Given the description of an element on the screen output the (x, y) to click on. 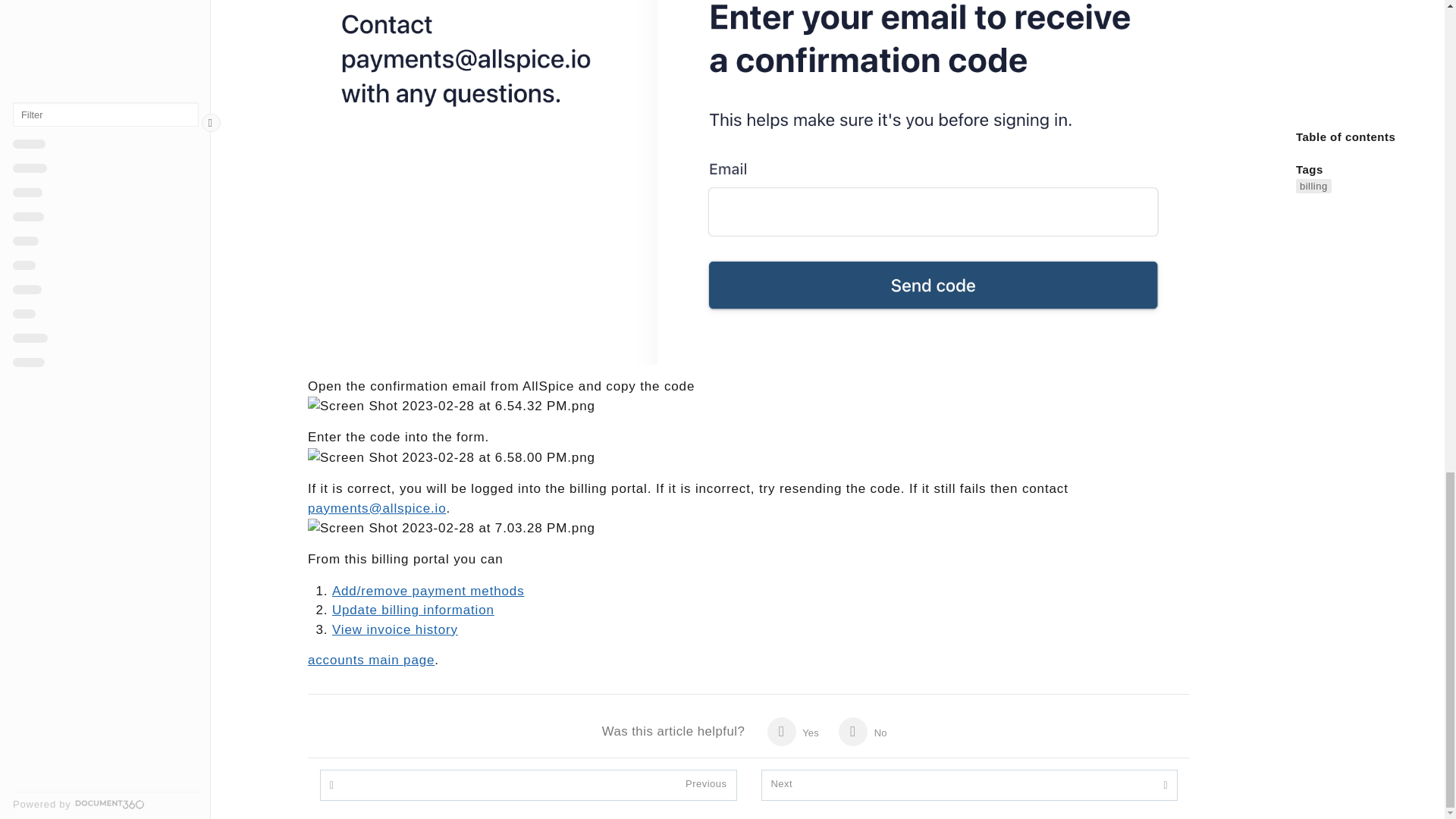
Previous (705, 785)
accounts main page (370, 659)
No (862, 731)
Next (781, 785)
Previous (705, 783)
Next (781, 783)
Update billing information (413, 609)
Yes (792, 731)
View invoice history (394, 629)
